Given the description of an element on the screen output the (x, y) to click on. 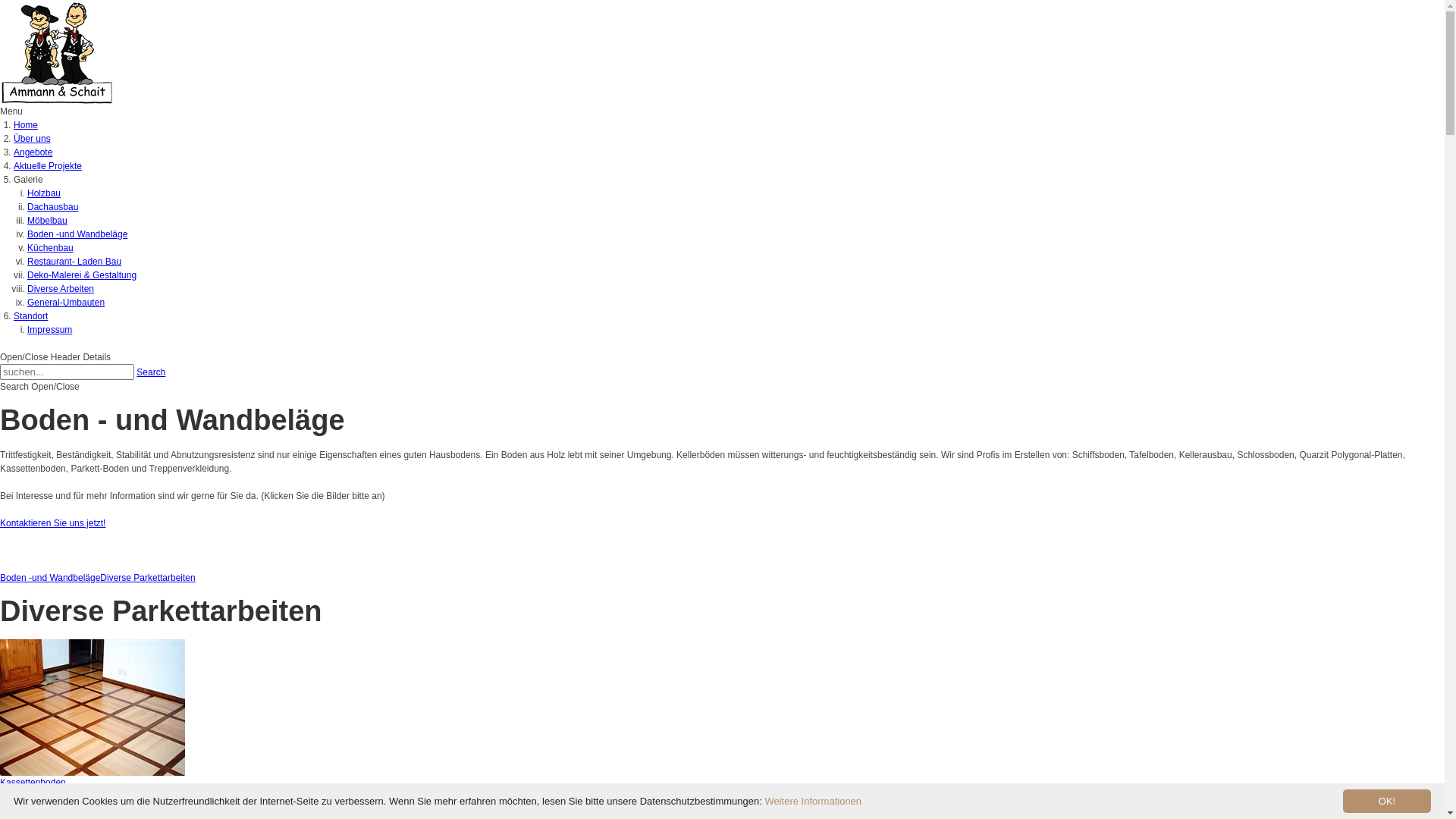
Restaurant- Laden Bau Element type: text (74, 261)
Home Element type: text (25, 124)
Kassettenboden Element type: text (32, 782)
ammann-schait.ch Element type: hover (56, 51)
General-Umbauten Element type: text (65, 302)
Diverse Parkettarbeiten Element type: text (147, 577)
Angebote Element type: text (32, 152)
Weitere Informationen Element type: text (812, 800)
Holzbau Element type: text (43, 193)
Kontaktieren Sie uns jetzt! Element type: text (52, 522)
Search Element type: text (150, 372)
Impressum Element type: text (49, 329)
Dachausbau Element type: text (52, 206)
Deko-Malerei & Gestaltung Element type: text (81, 274)
Kassettenboden Element type: hover (92, 706)
Standort Element type: text (30, 315)
Diverse Arbeiten Element type: text (60, 288)
Aktuelle Projekte Element type: text (47, 165)
